Given the description of an element on the screen output the (x, y) to click on. 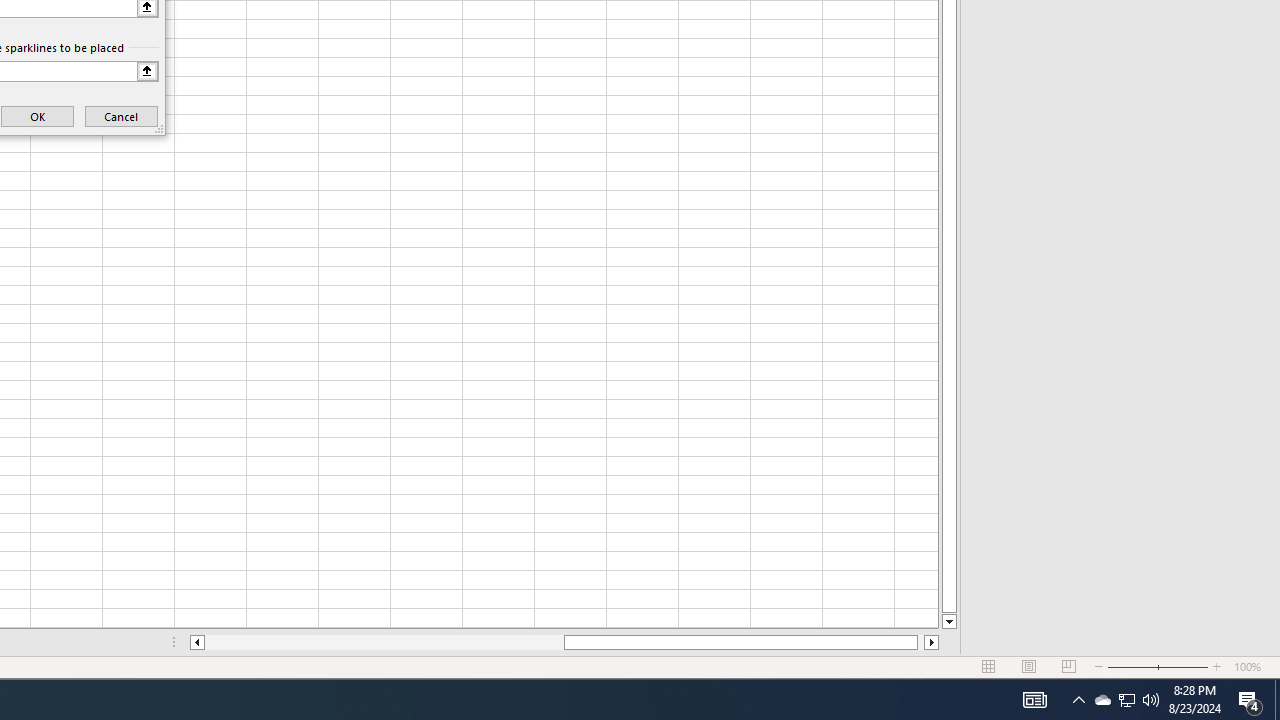
Page left (384, 642)
